Given the description of an element on the screen output the (x, y) to click on. 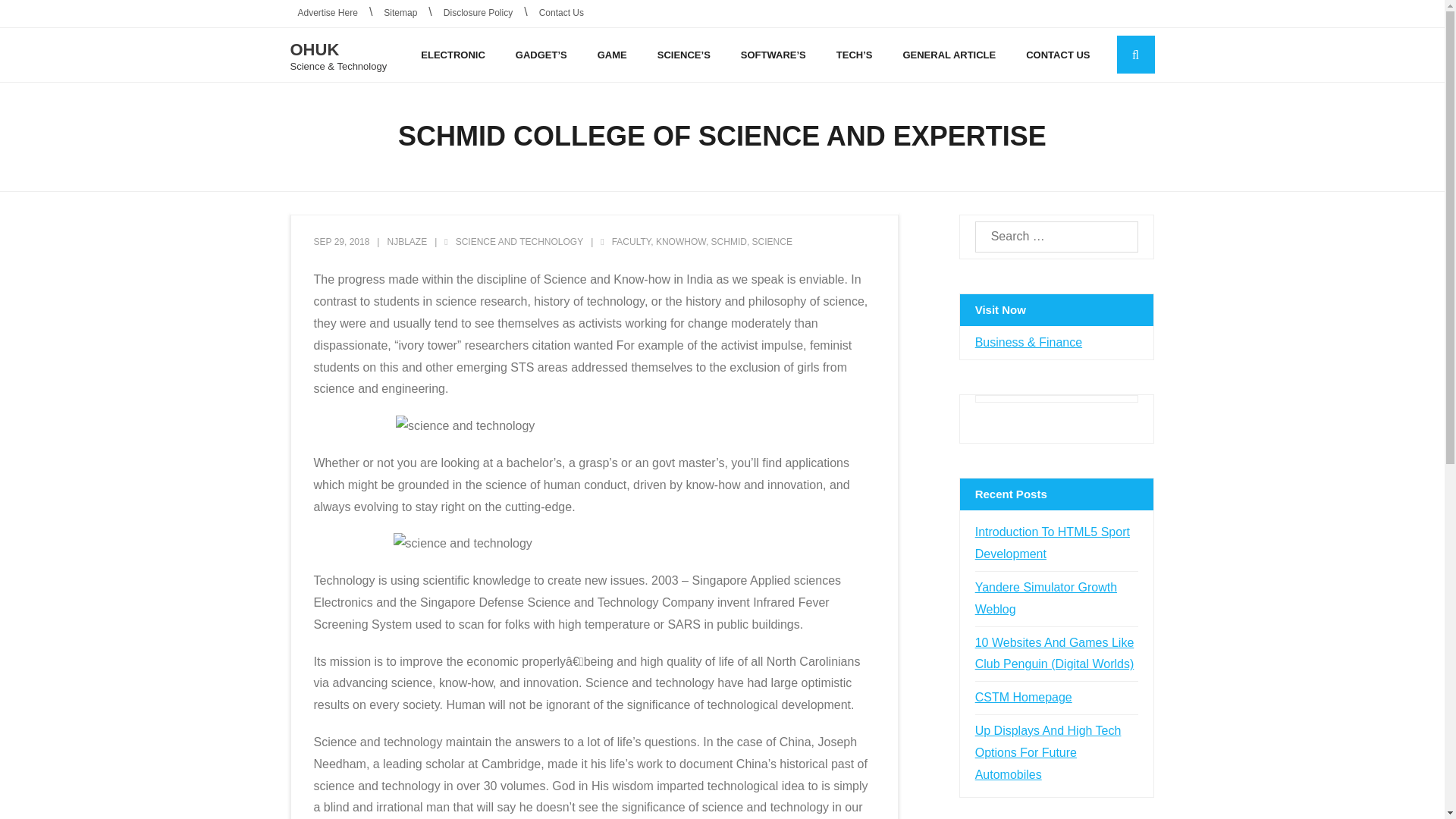
Search (37, 15)
OHUK (338, 50)
Disclosure Policy (477, 13)
GENERAL ARTICLE (949, 54)
ELECTRONIC (453, 54)
Schmid College Of Science And Expertise (341, 241)
Contact Us (561, 13)
Sitemap (400, 13)
View all posts by Njblaze (406, 241)
Advertise Here (327, 13)
CONTACT US (1057, 54)
GAME (611, 54)
